Given the description of an element on the screen output the (x, y) to click on. 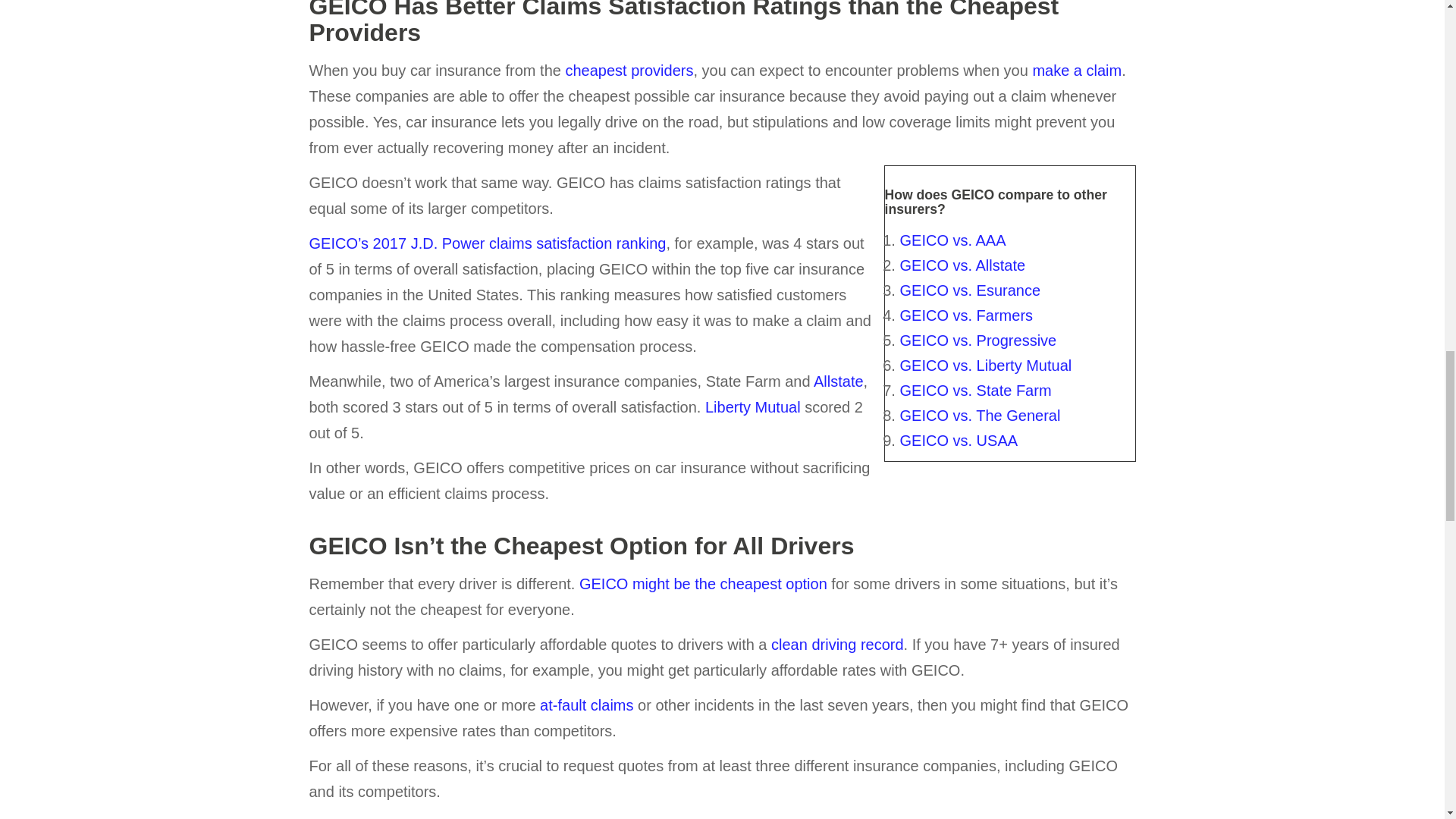
make a claim (1076, 70)
GEICO vs. Progressive (978, 340)
GEICO vs. Liberty Mutual (985, 365)
GEICO vs. Farmers (965, 315)
GEICO vs. AAA (952, 239)
cheapest providers (628, 70)
GEICO vs. State Farm (975, 390)
GEICO vs. Allstate (962, 265)
GEICO vs. Esurance (970, 289)
